Given the description of an element on the screen output the (x, y) to click on. 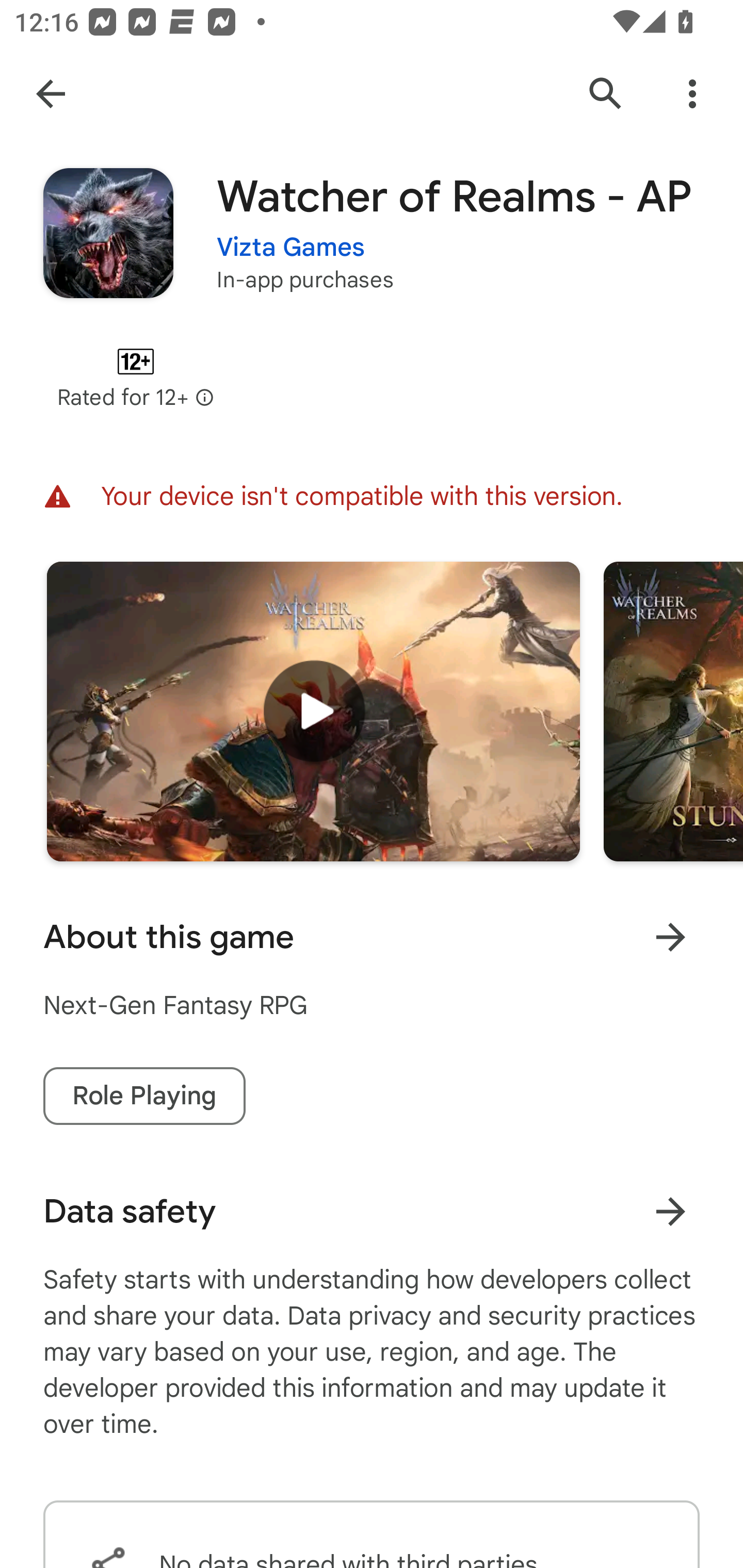
Navigate up (50, 93)
Search Google Play (605, 93)
More Options (692, 93)
Vizta Games (290, 233)
Content rating Rated for 12+ (135, 377)
Play trailer for "Watcher of Realms - AP" (313, 710)
Screenshot "1" of "7" (673, 710)
About this game Learn more About this game (371, 936)
Learn more About this game (670, 936)
Role Playing tag (144, 1095)
Data safety Learn more about data safety (371, 1211)
Learn more about data safety (670, 1211)
